Given the description of an element on the screen output the (x, y) to click on. 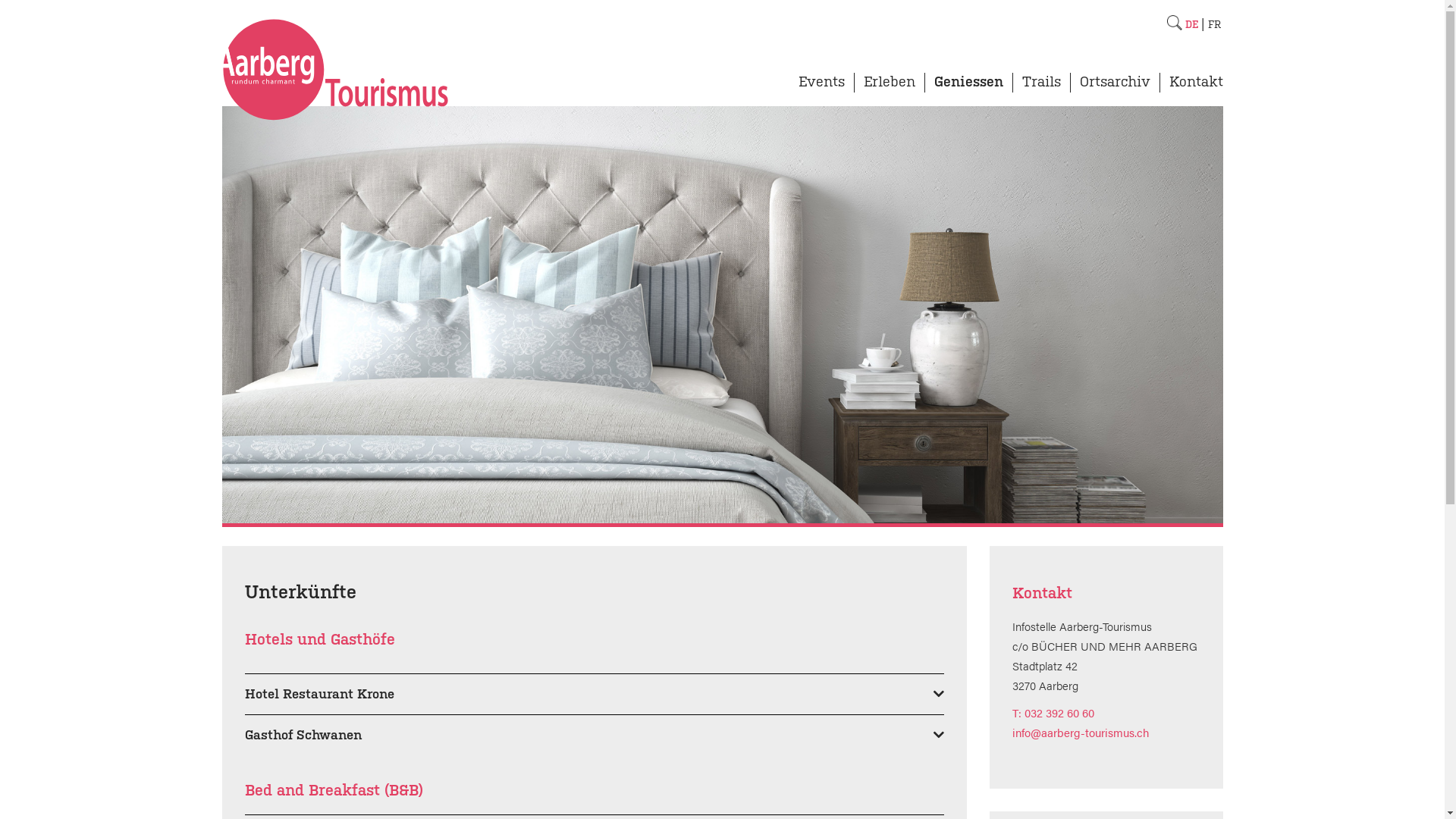
Erleben Element type: text (888, 87)
T: 032 392 60 60 Element type: text (1053, 712)
  Element type: text (1173, 22)
Geniessen Element type: text (968, 87)
Events Element type: text (820, 87)
Kontakt Element type: text (1191, 87)
Ortsarchiv Element type: text (1114, 87)
FR Element type: text (1213, 24)
Trails Element type: text (1041, 87)
info@aarberg-tourismus.ch Element type: text (1080, 732)
DE Element type: text (1190, 24)
